Given the description of an element on the screen output the (x, y) to click on. 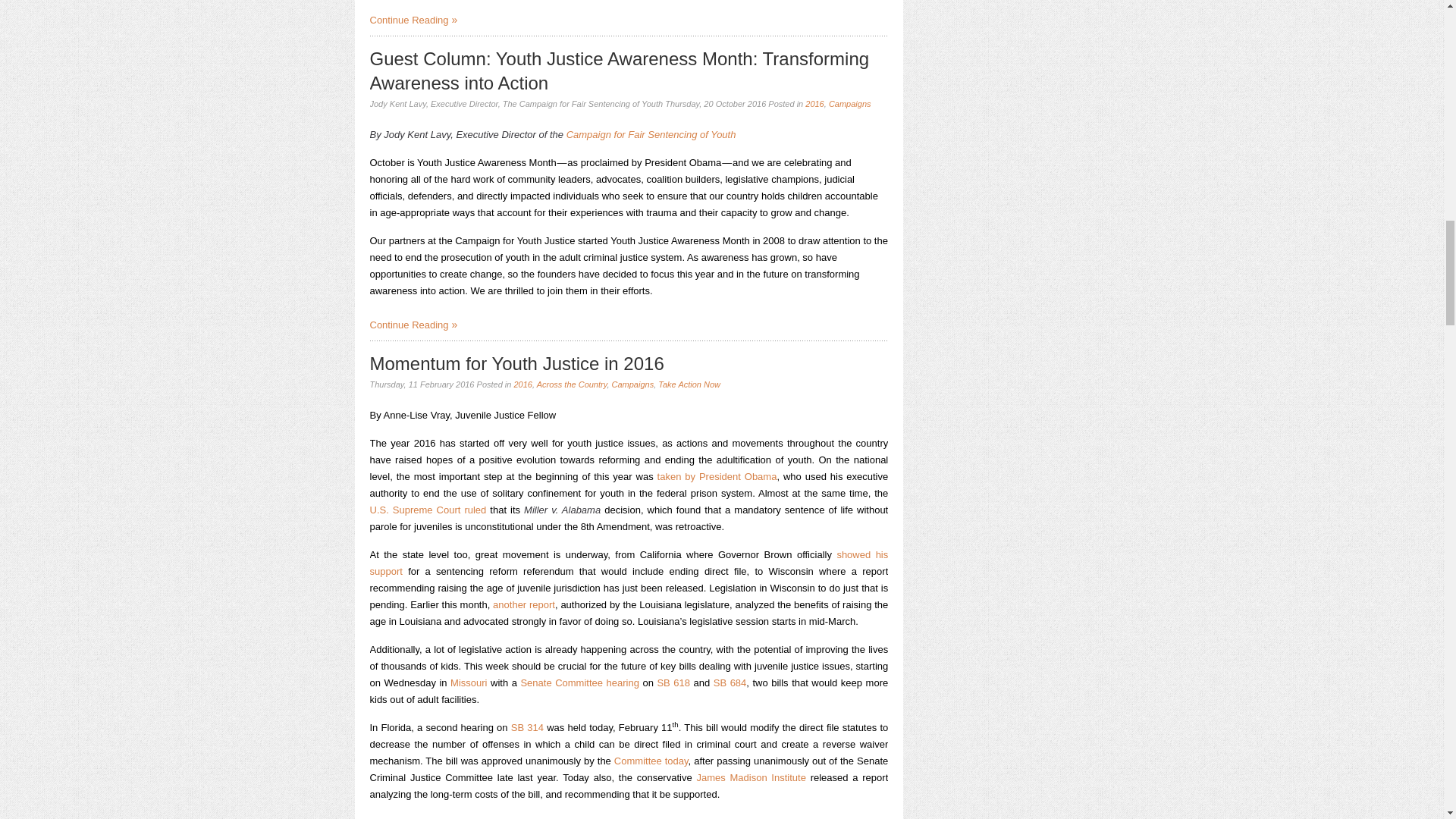
Momentum for Youth Justice in 2016 (516, 362)
